Given the description of an element on the screen output the (x, y) to click on. 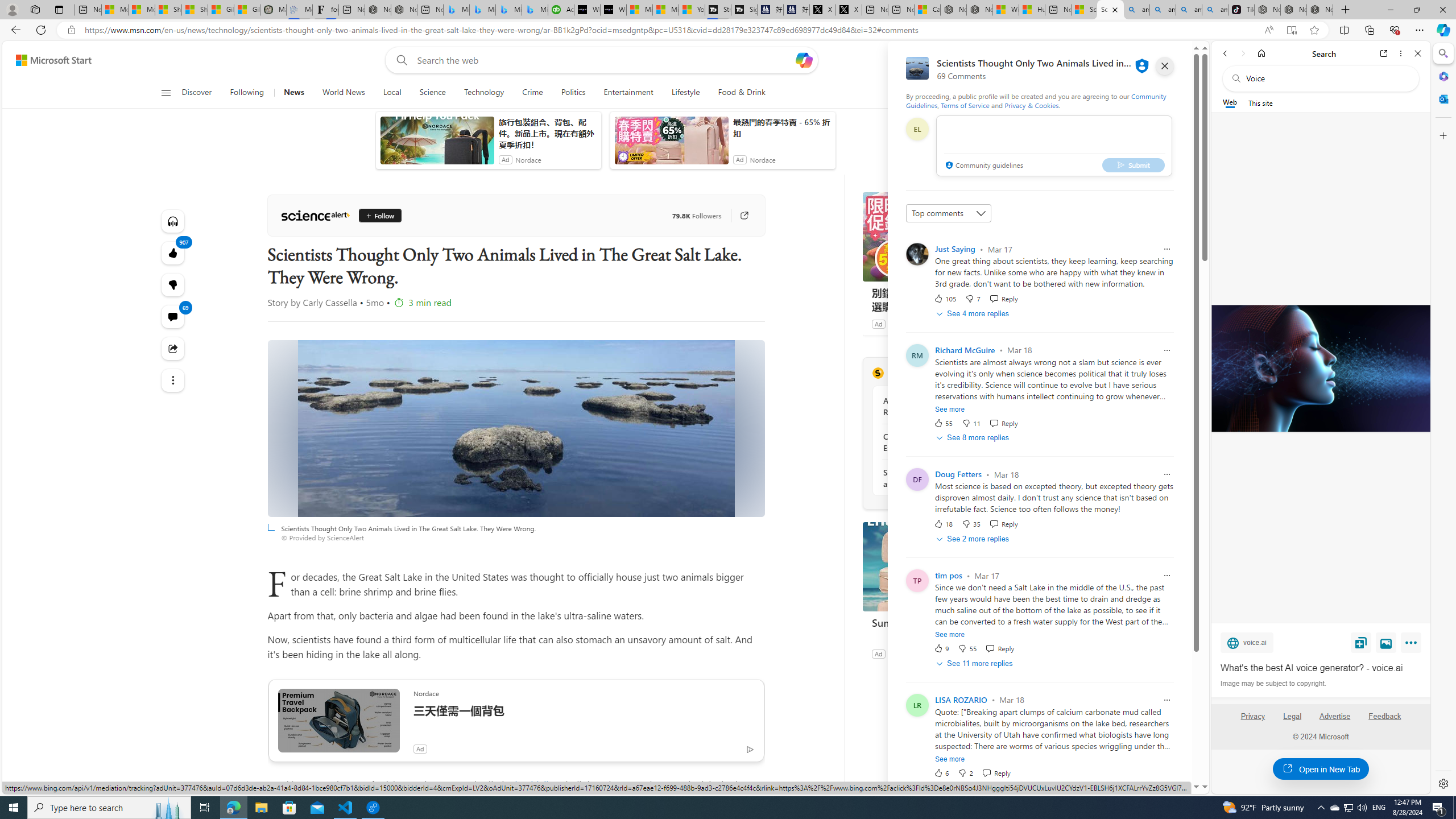
Feedback (1384, 720)
Nordace (901, 653)
Search (1442, 53)
Submit (1133, 164)
Search the web (1326, 78)
See more (949, 758)
Legal (1291, 715)
Privacy & Cookies (1031, 104)
Manatee Mortality Statistics | FWC (272, 9)
More options (1401, 53)
Add this page to favorites (Ctrl+D) (1314, 29)
Split screen (1344, 29)
Listen to this article (172, 221)
More (1413, 644)
